Given the description of an element on the screen output the (x, y) to click on. 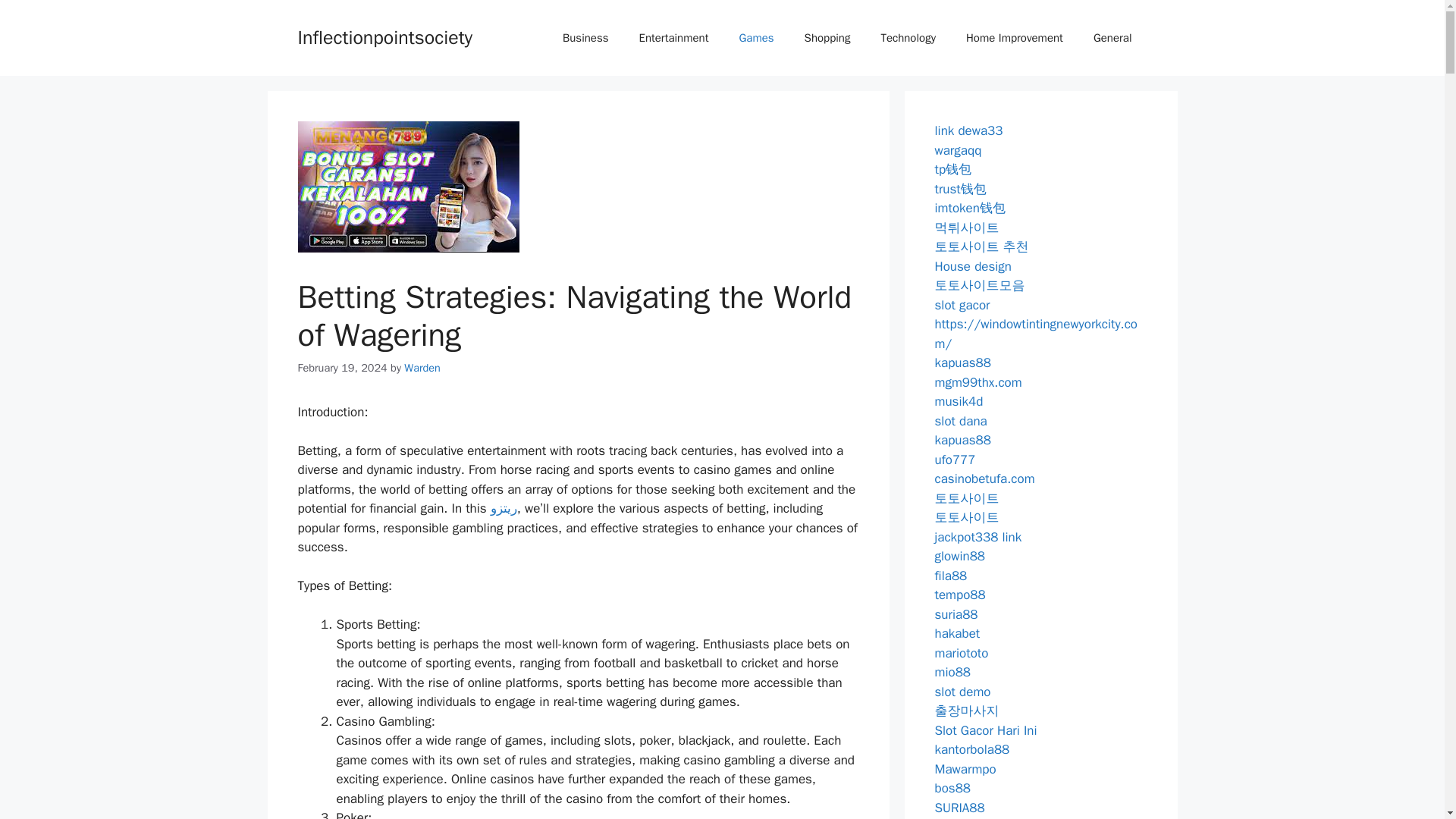
General (1112, 37)
Home Improvement (1014, 37)
wargaqq (957, 150)
slot gacor (962, 304)
Inflectionpointsociety (384, 37)
Games (756, 37)
View all posts by Warden (422, 367)
musik4d (958, 401)
Warden (422, 367)
House design (972, 265)
